Given the description of an element on the screen output the (x, y) to click on. 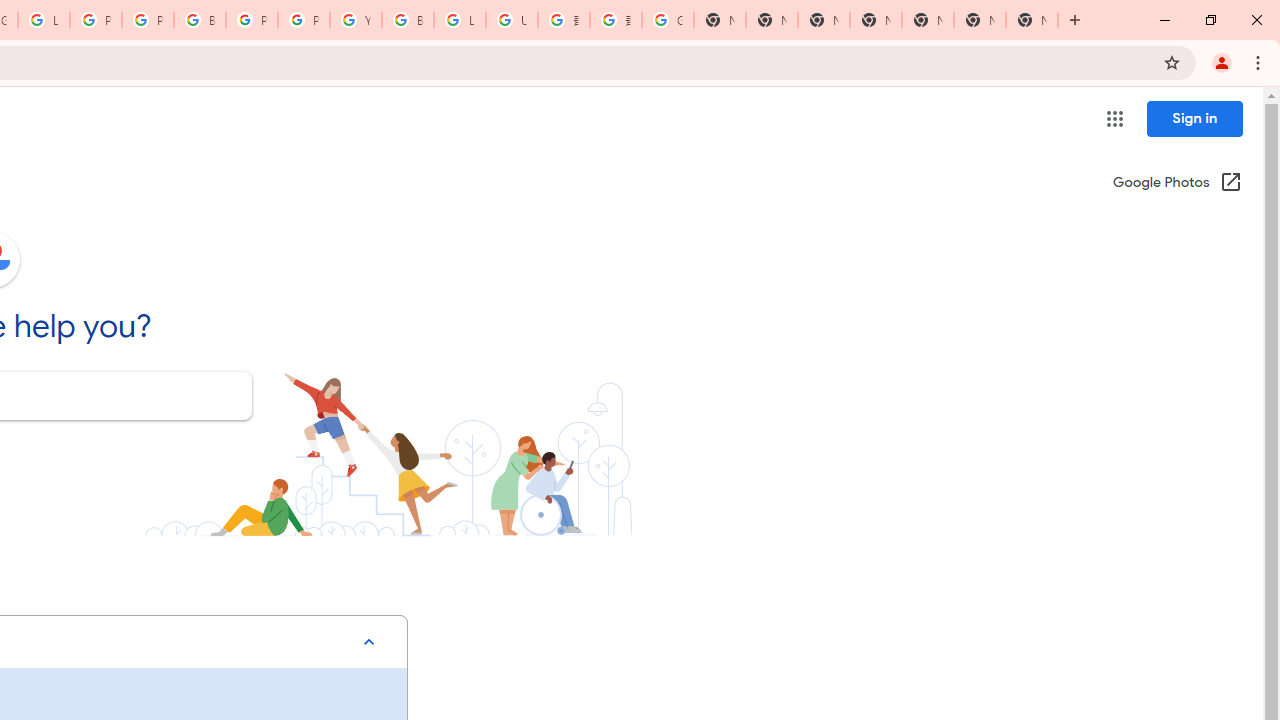
New Tab (1032, 20)
Google Images (667, 20)
YouTube (355, 20)
New Tab (875, 20)
